Given the description of an element on the screen output the (x, y) to click on. 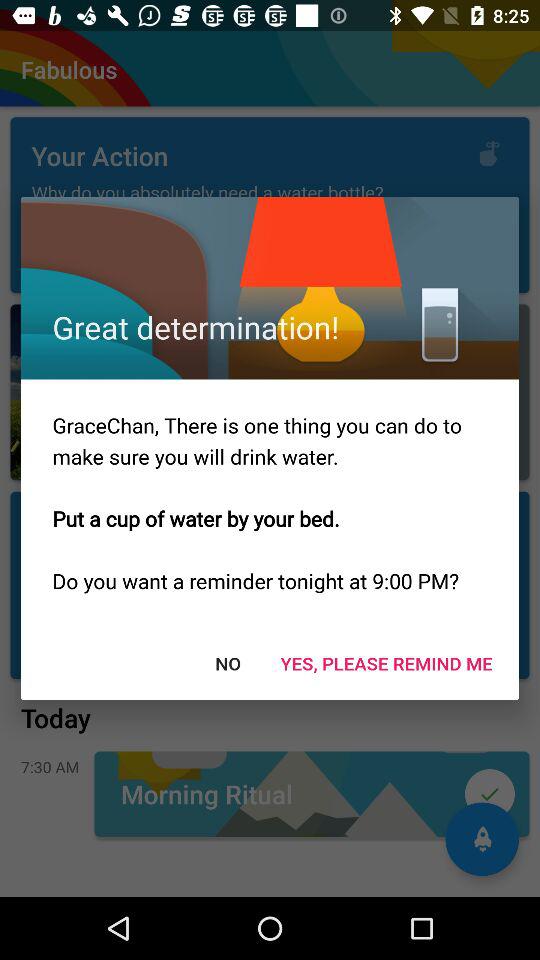
press the icon at the bottom right corner (386, 662)
